Given the description of an element on the screen output the (x, y) to click on. 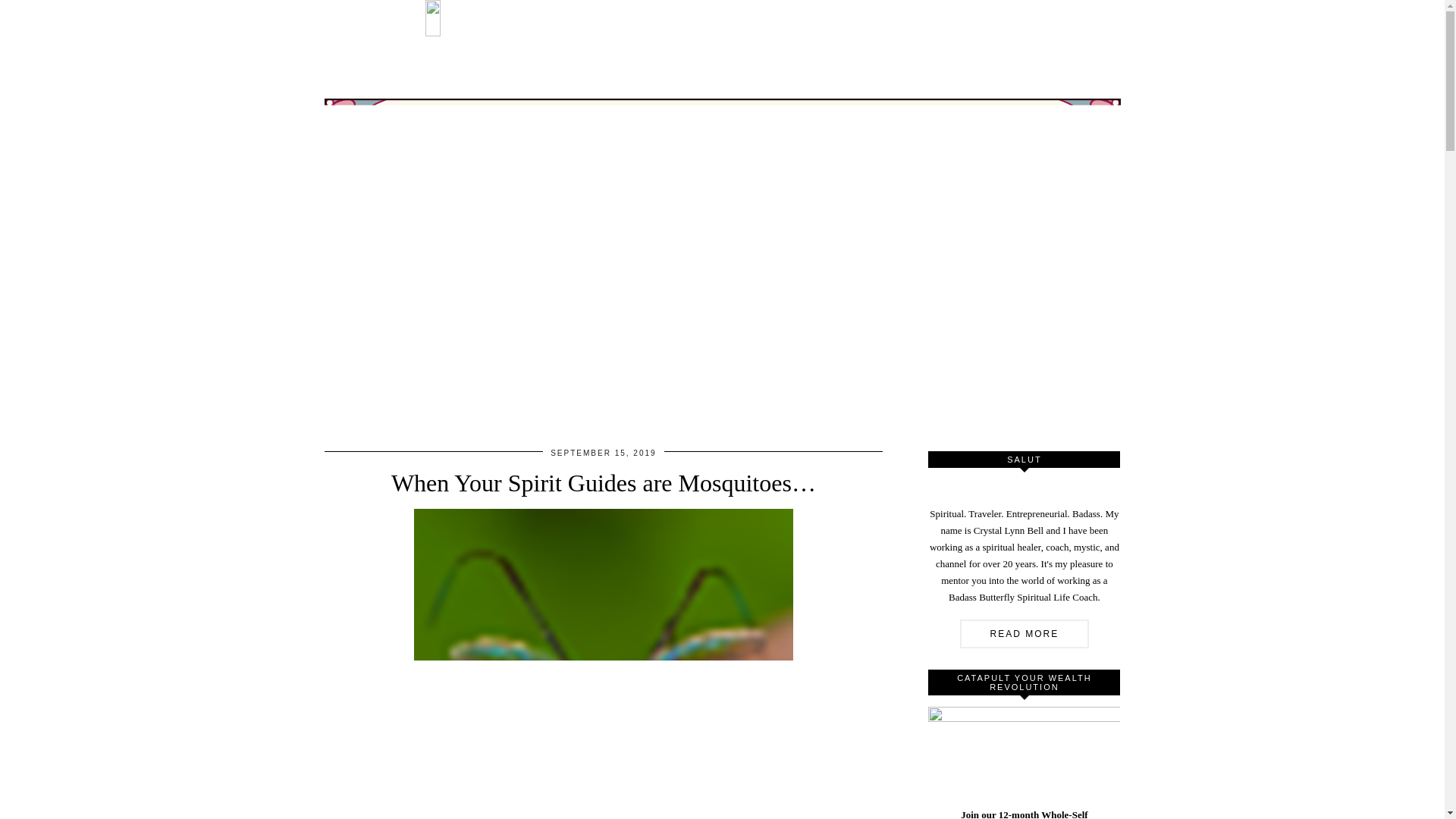
WORK WITH ME (569, 17)
ENERGY WORKBOOK (973, 17)
BLOG (874, 17)
BECOME A SPIRITUAL LIFE COACH! (735, 17)
HOME (455, 18)
